Given the description of an element on the screen output the (x, y) to click on. 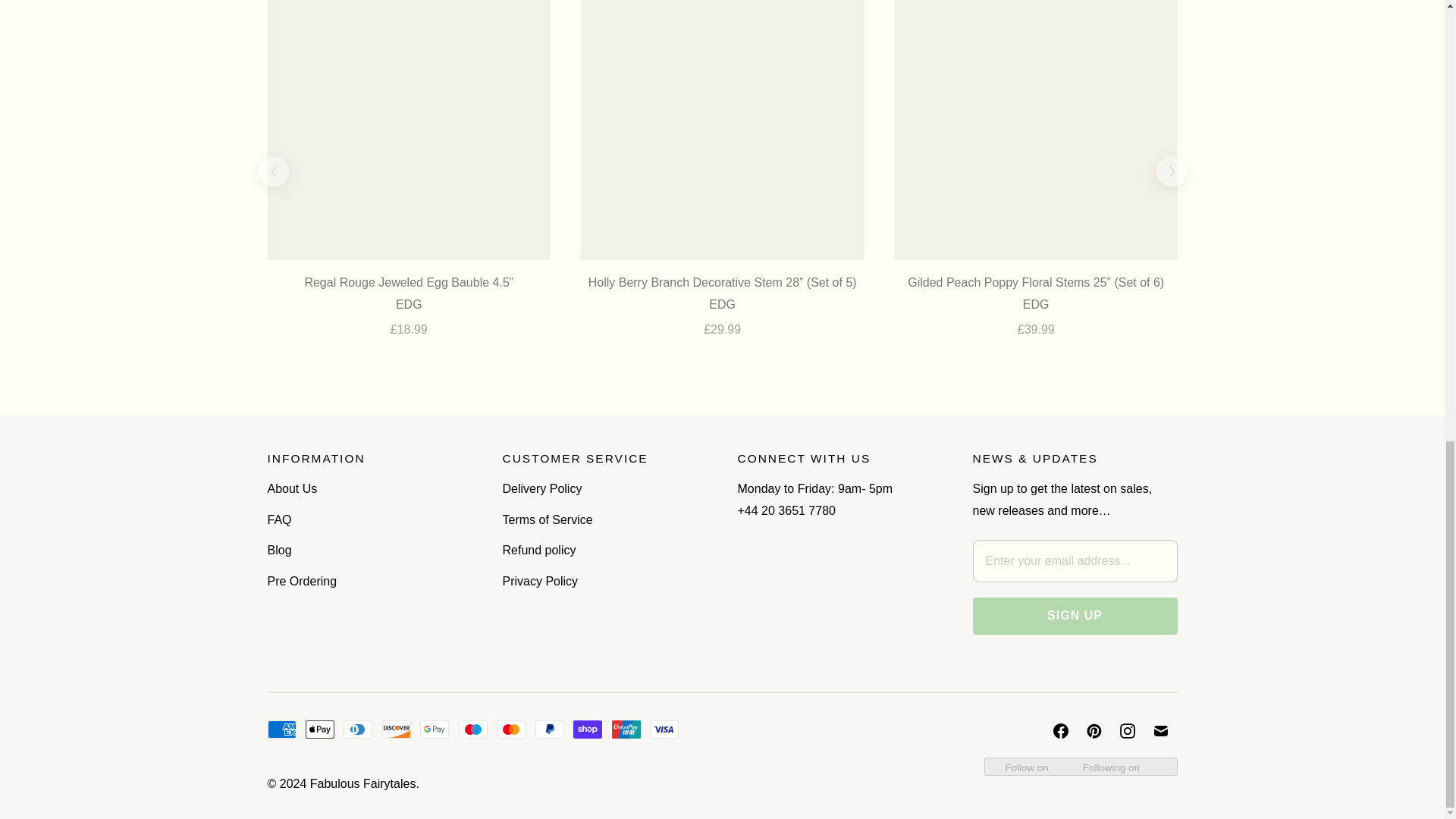
Discover (395, 729)
American Express (280, 729)
Maestro (472, 729)
Sign Up (1074, 615)
Google Pay (434, 729)
Mastercard (510, 729)
Shop Pay (587, 729)
Diners Club (357, 729)
Apple Pay (319, 729)
PayPal (549, 729)
